Given the description of an element on the screen output the (x, y) to click on. 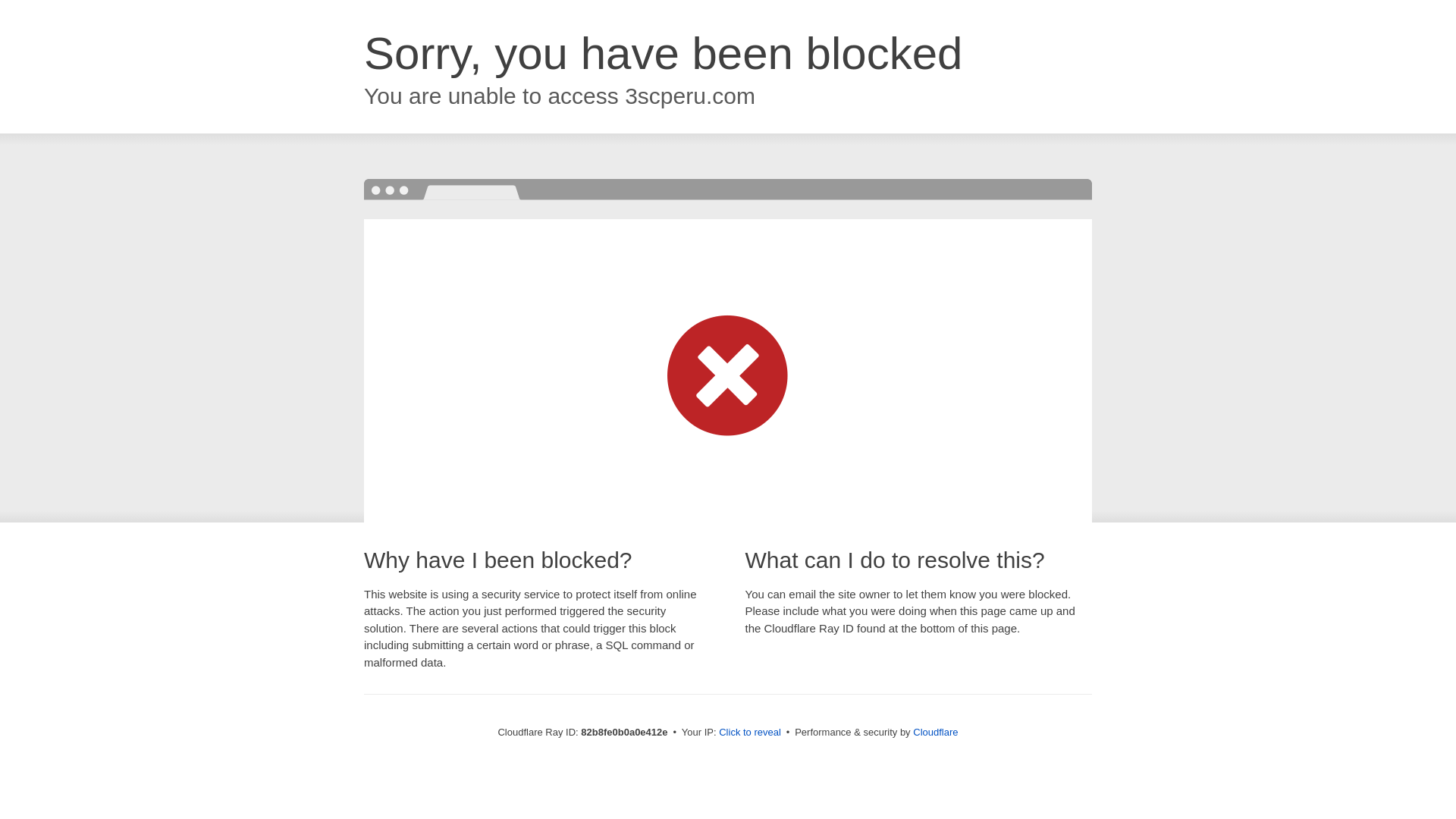
Click to reveal Element type: text (749, 732)
Cloudflare Element type: text (935, 731)
